Given the description of an element on the screen output the (x, y) to click on. 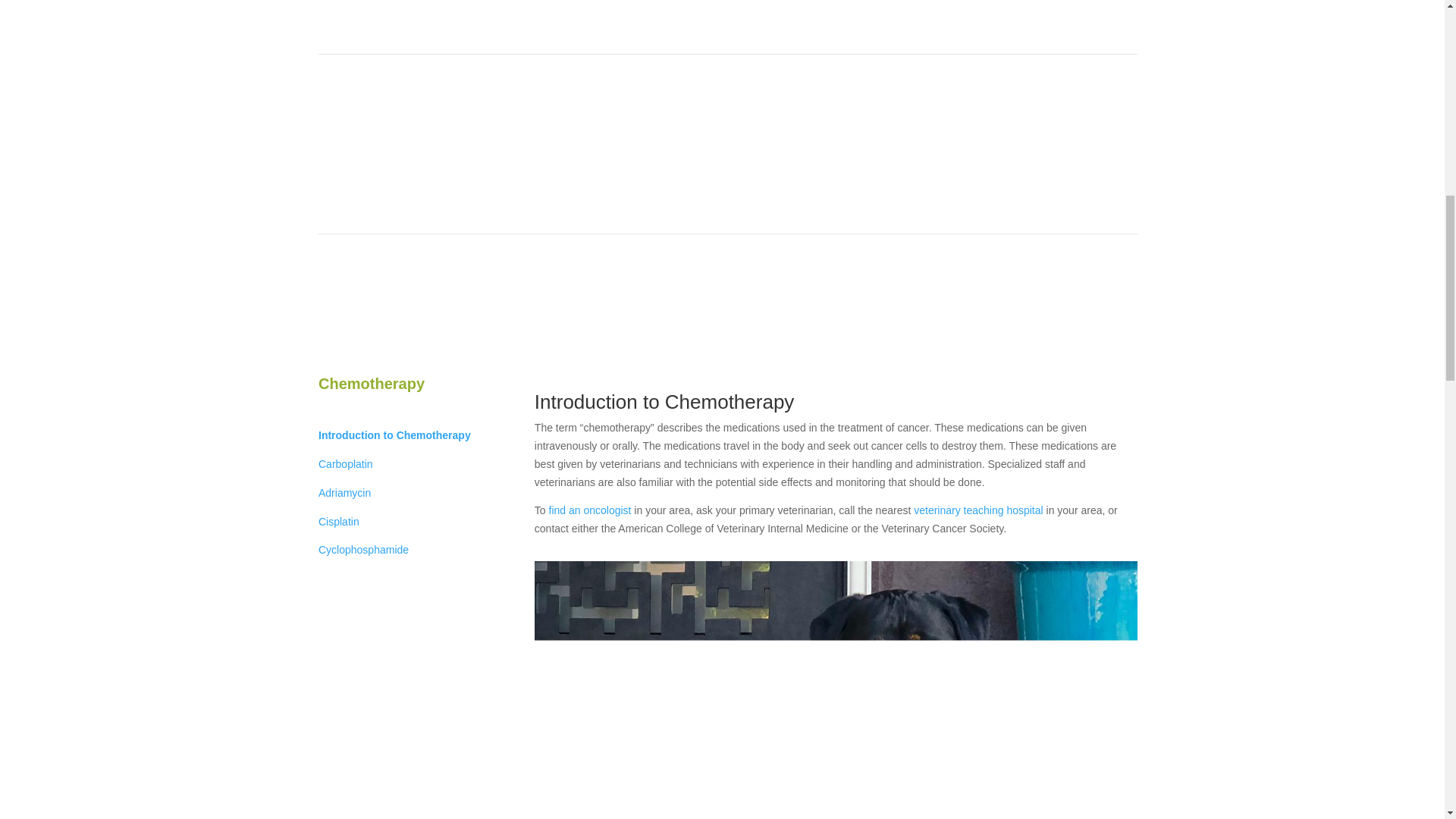
Management Options (495, 332)
Complementary Therapies (842, 332)
Overview (406, 332)
Introduction to Chemotherapy (394, 435)
Oncology (584, 332)
Chemotherapy (729, 332)
Carboplatin (345, 463)
Cyclophosphamide (363, 549)
Amputation (651, 332)
veterinary teaching hospital (978, 510)
Cisplatin (338, 521)
Metastases (949, 332)
Adriamycin (344, 492)
Saying Goodbye (1031, 332)
find an oncologist (589, 510)
